Given the description of an element on the screen output the (x, y) to click on. 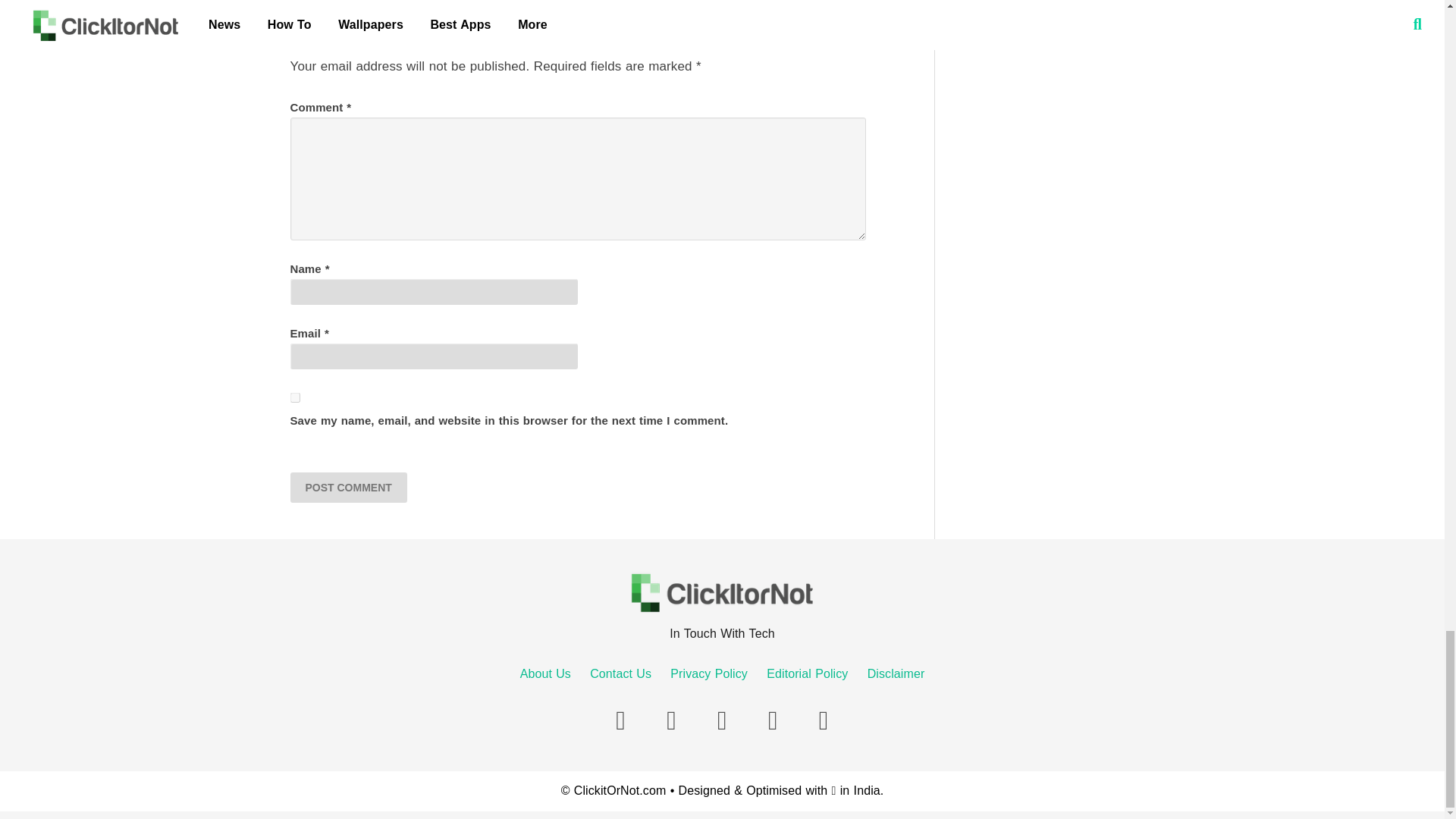
Post Comment (347, 487)
Post Comment (347, 487)
yes (294, 397)
